Given the description of an element on the screen output the (x, y) to click on. 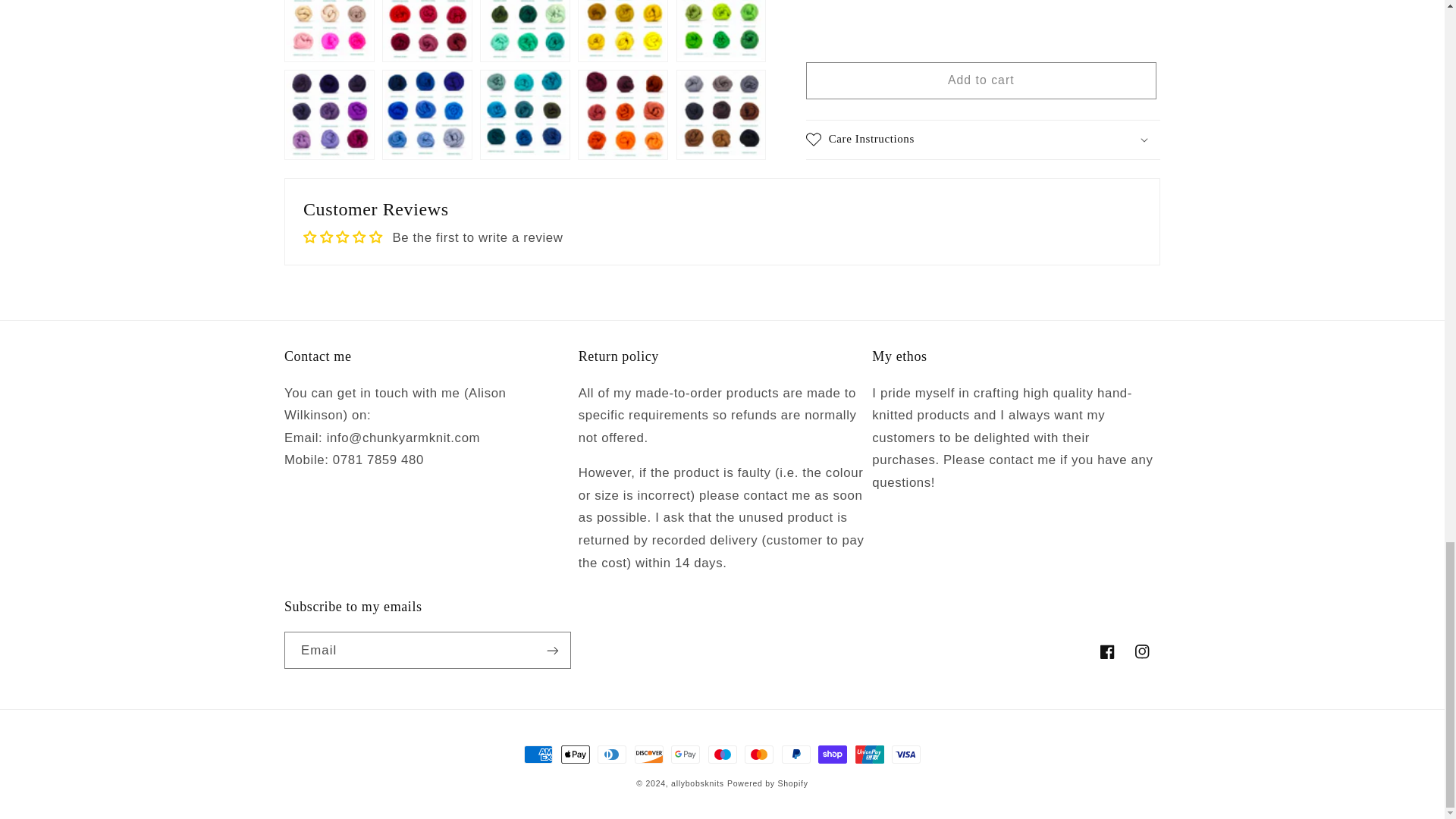
Page 2 (983, 20)
